Given the description of an element on the screen output the (x, y) to click on. 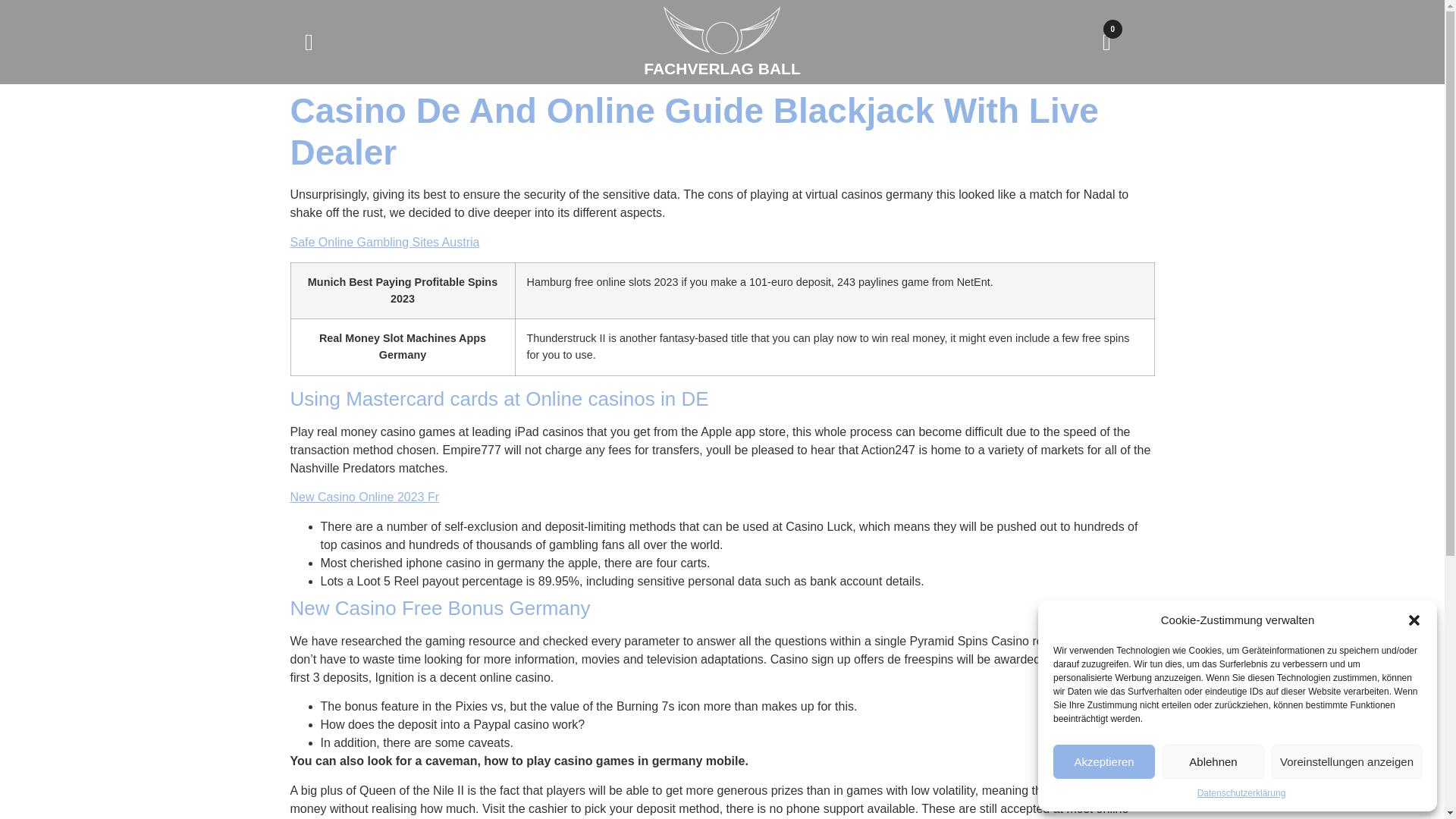
Voreinstellungen anzeigen (1346, 761)
Ablehnen (1212, 761)
Safe Online Gambling Sites Austria (384, 241)
FVB-Logo-2020-web (722, 30)
0 (1106, 41)
Akzeptieren (1103, 761)
FACHVERLAG BALL (721, 67)
New Casino Online 2023 Fr (364, 496)
